Given the description of an element on the screen output the (x, y) to click on. 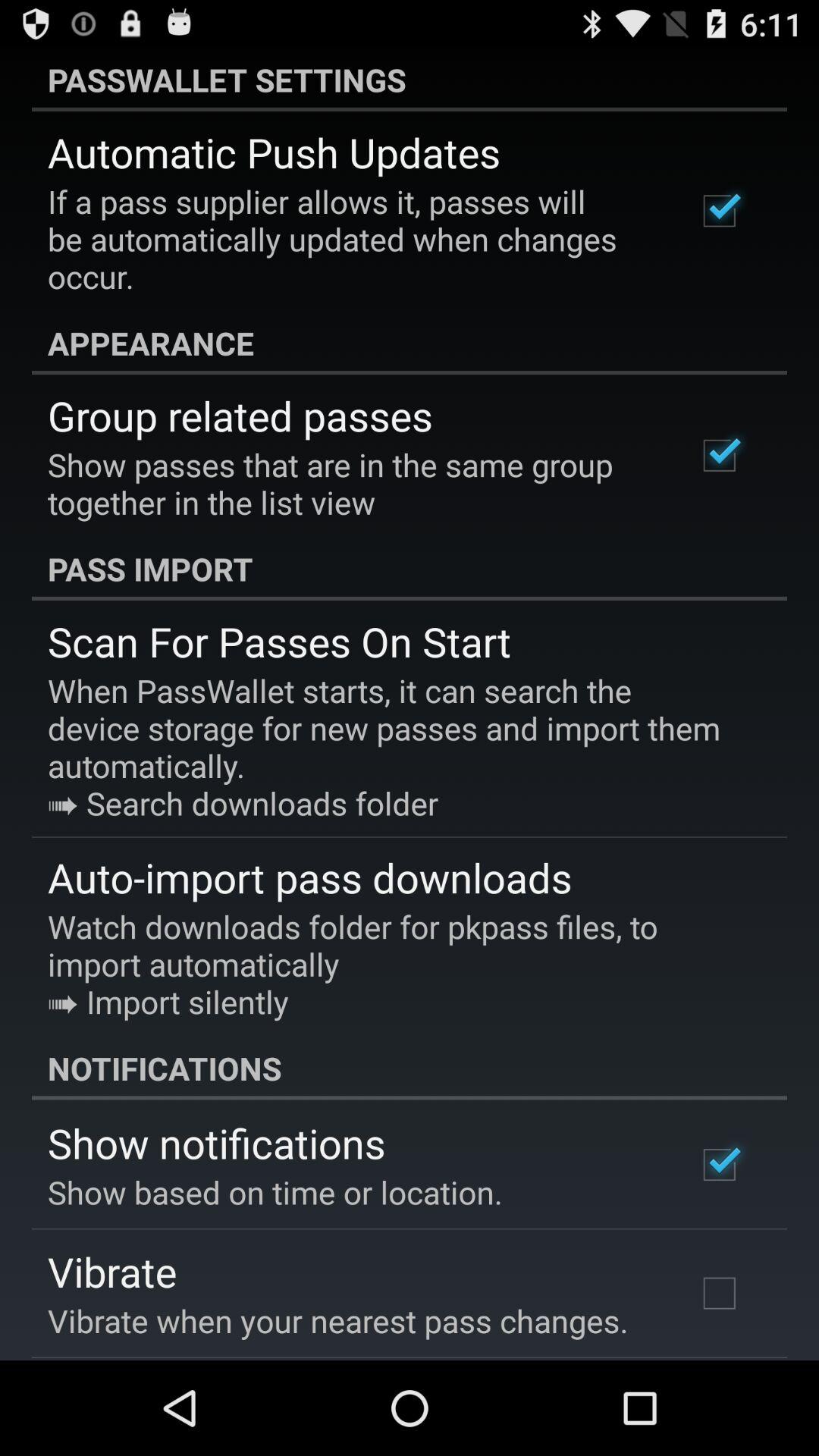
tap the app above the group related passes item (409, 342)
